Given the description of an element on the screen output the (x, y) to click on. 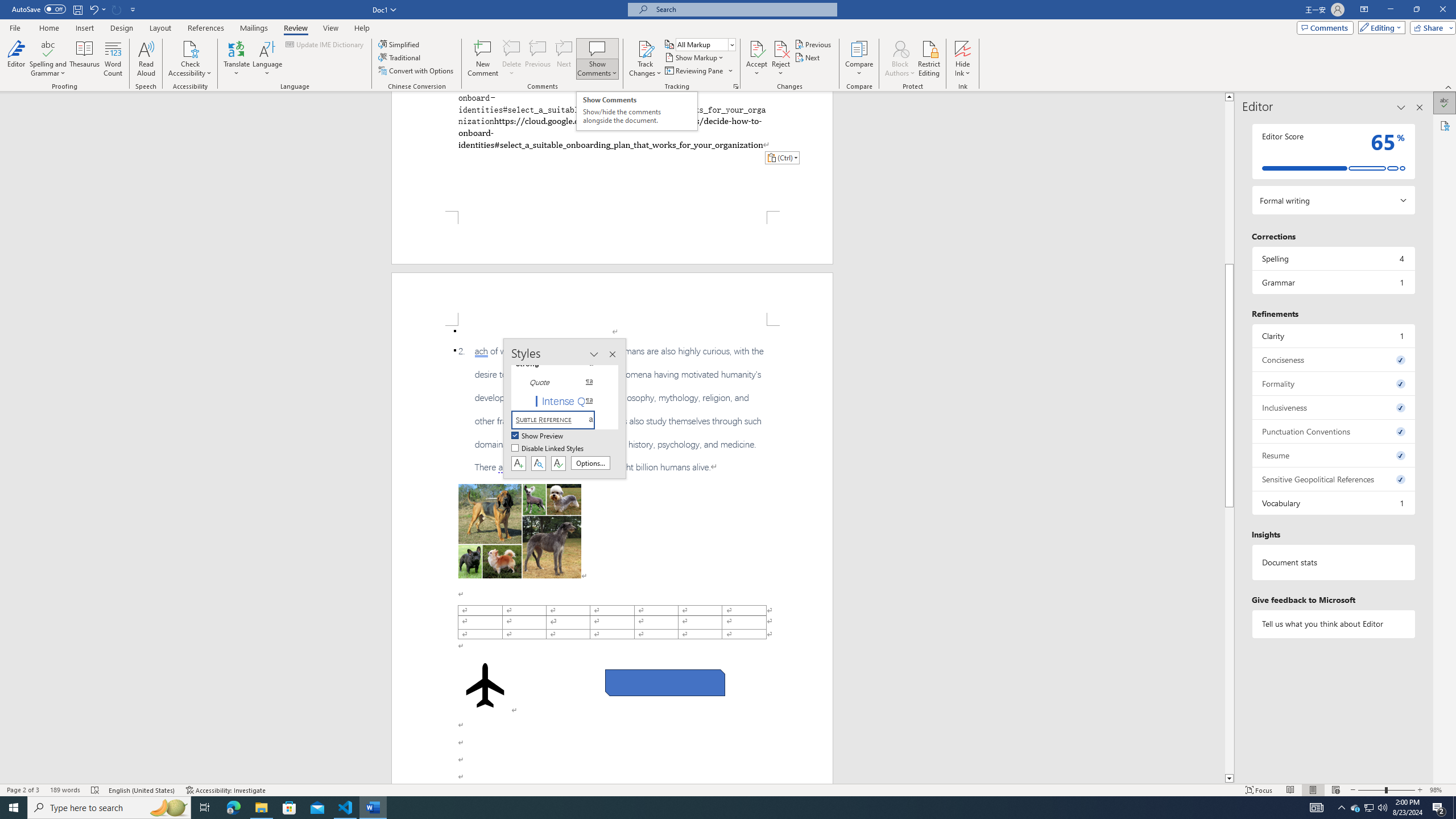
Spelling and Grammar Check Errors (94, 790)
Page up (1229, 182)
Options... (590, 463)
Spelling and Grammar (48, 58)
Check Accessibility (189, 58)
Airplane with solid fill (485, 684)
Resume, 0 issues. Press space or enter to review items. (1333, 454)
Display for Review (705, 44)
Hide Ink (962, 58)
Strong (559, 363)
Subtle Reference (559, 419)
